Given the description of an element on the screen output the (x, y) to click on. 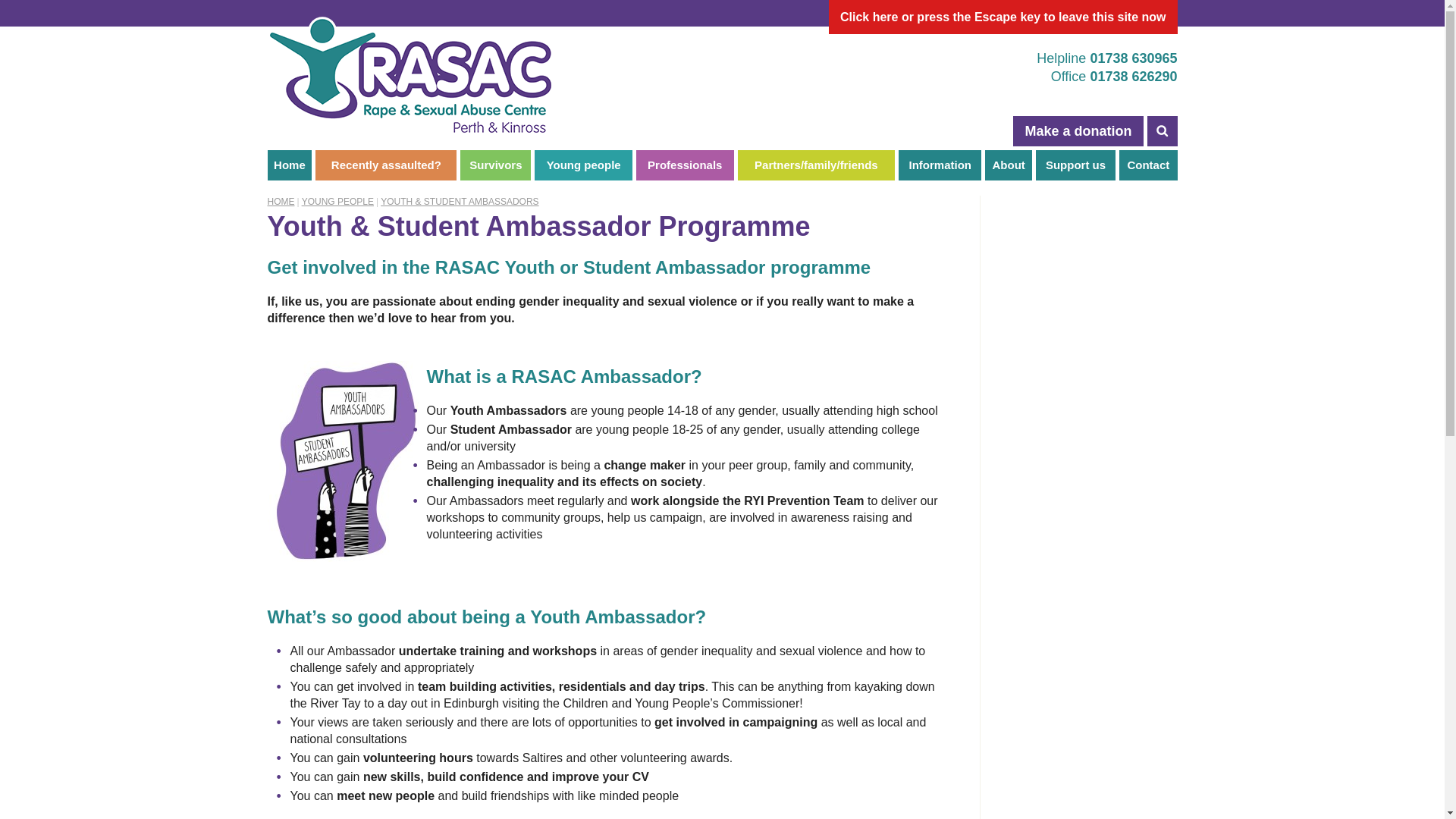
Young people (582, 164)
Home (288, 164)
Make a donation (1077, 131)
Recently assaulted? (386, 164)
Survivors (495, 164)
Click here or press the Escape key to leave this site now (1002, 17)
Professionals (684, 164)
